Given the description of an element on the screen output the (x, y) to click on. 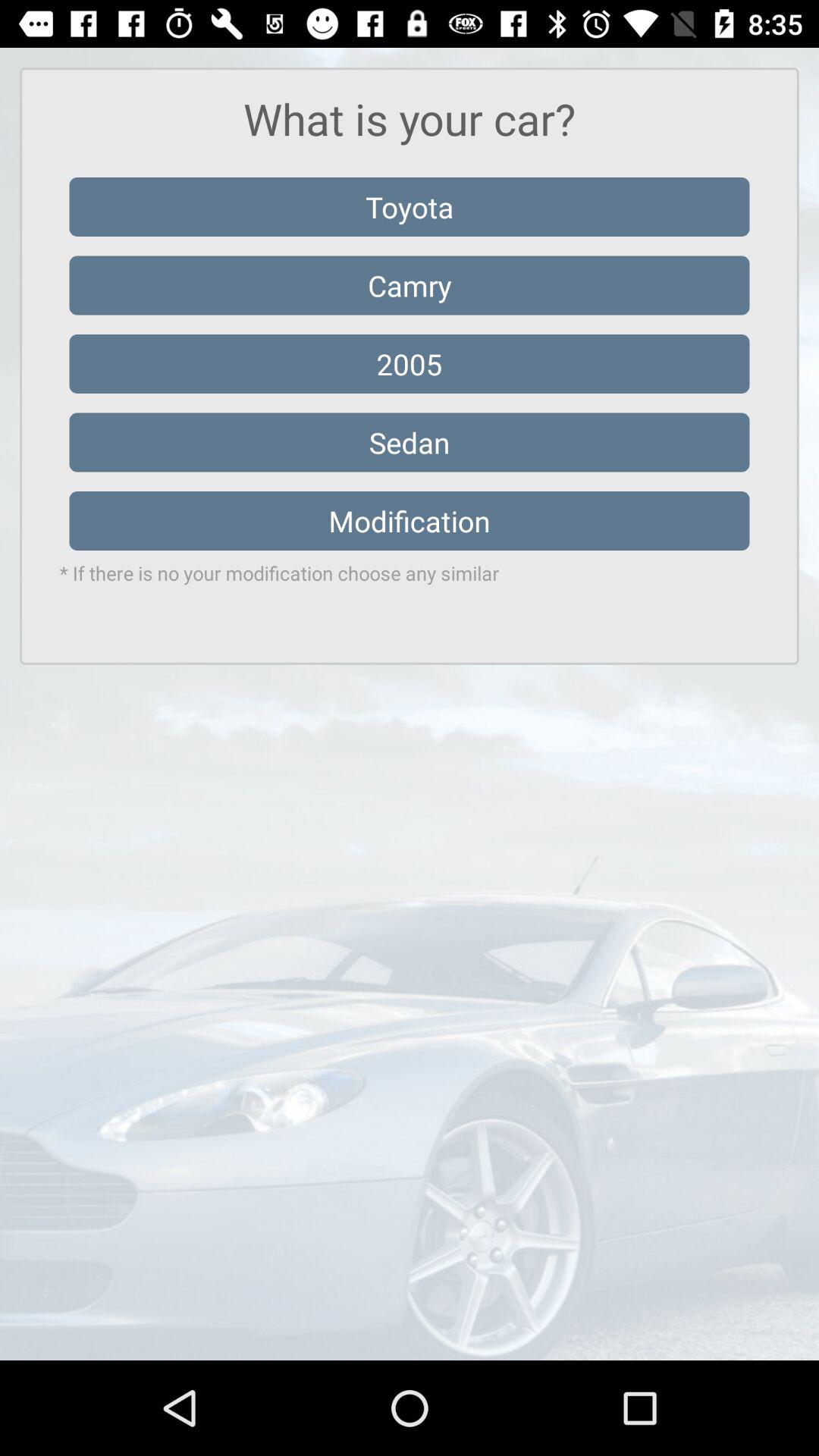
turn off item above camry icon (409, 206)
